Given the description of an element on the screen output the (x, y) to click on. 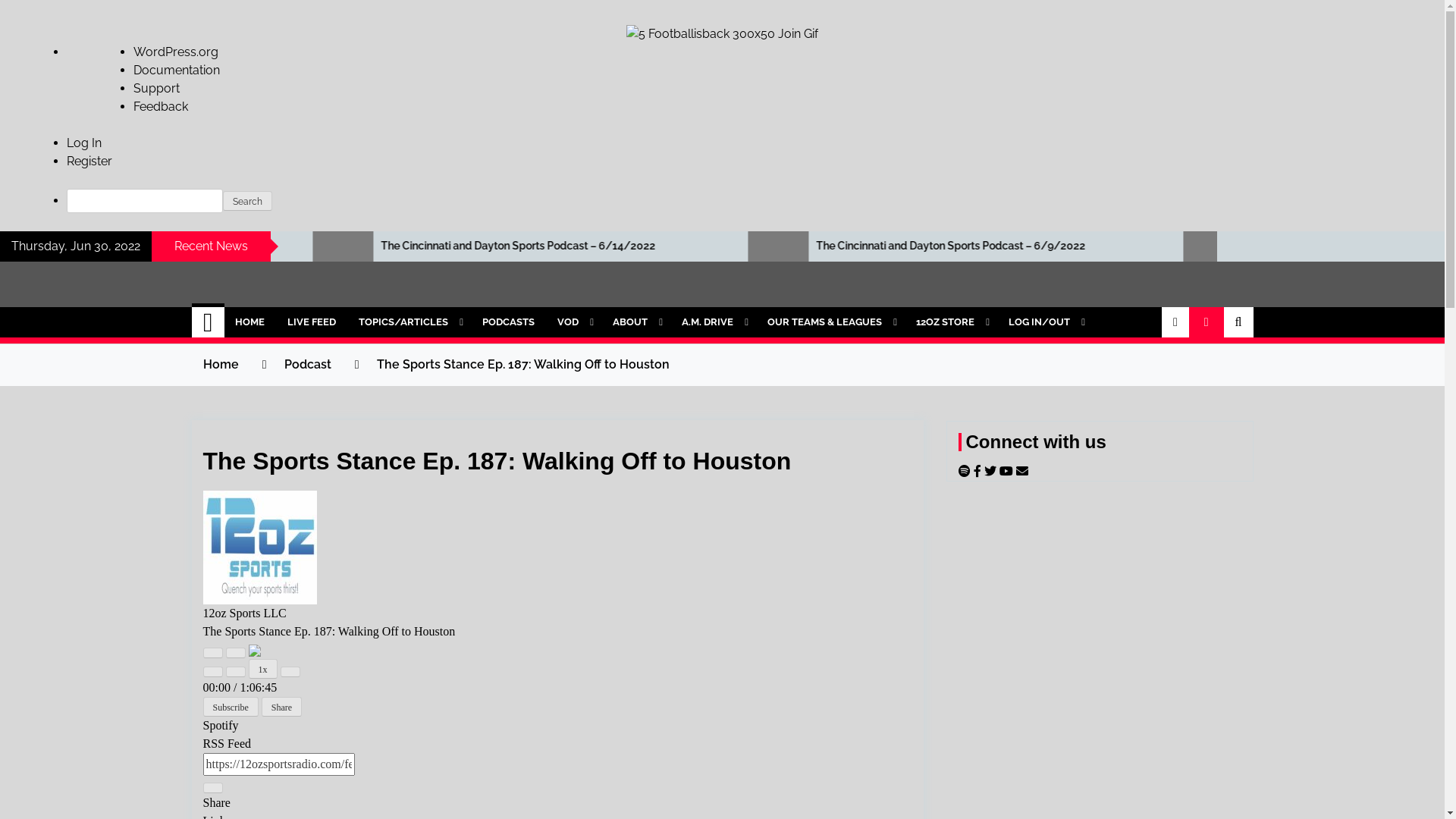
The Sports Stance Ep. 187: Walking Off to Houston Element type: text (522, 364)
WordPress.org Element type: text (175, 51)
12oz Sports Network on Facebook Element type: hover (978, 470)
1x Element type: text (262, 668)
The Sports Stance Ep. 187: Walking Off to Houston Element type: text (497, 460)
Home Element type: hover (207, 322)
TOPICS/ARTICLES Element type: text (408, 322)
Subscribe Element type: text (230, 706)
LIVE FEED Element type: text (311, 322)
Spotify Element type: text (220, 724)
12OZ STORE Element type: text (950, 322)
Documentation Element type: text (176, 69)
Pause Episode Element type: text (235, 652)
Email 12oz Sports Network Element type: hover (1022, 470)
PODCASTS Element type: text (508, 322)
Search Element type: text (247, 200)
Play Episode Element type: text (212, 652)
12oz Sports Network on Youtube Element type: hover (1007, 470)
LOG IN/OUT Element type: text (1044, 322)
12oz Sports Network Element type: text (372, 313)
ABOUT Element type: text (635, 322)
A.M. DRIVE Element type: text (713, 322)
Register Element type: text (89, 160)
Log In Element type: text (83, 142)
12oz Sports LLC Element type: hover (259, 547)
Fast Forward 30 seconds Element type: text (290, 671)
Home Element type: text (220, 364)
Podcast Element type: text (306, 364)
OUR TEAMS & LEAGUES Element type: text (830, 322)
Rewind 10 Seconds Element type: text (235, 671)
12oz Sports Network on Twitter Element type: hover (991, 470)
Feedback Element type: text (160, 106)
VOD Element type: text (573, 322)
Mute/Unmute Episode Element type: text (212, 671)
12oz Sports Network on Spotify Element type: hover (965, 470)
Share Element type: text (281, 706)
HOME Element type: text (249, 322)
Support Element type: text (156, 88)
